Given the description of an element on the screen output the (x, y) to click on. 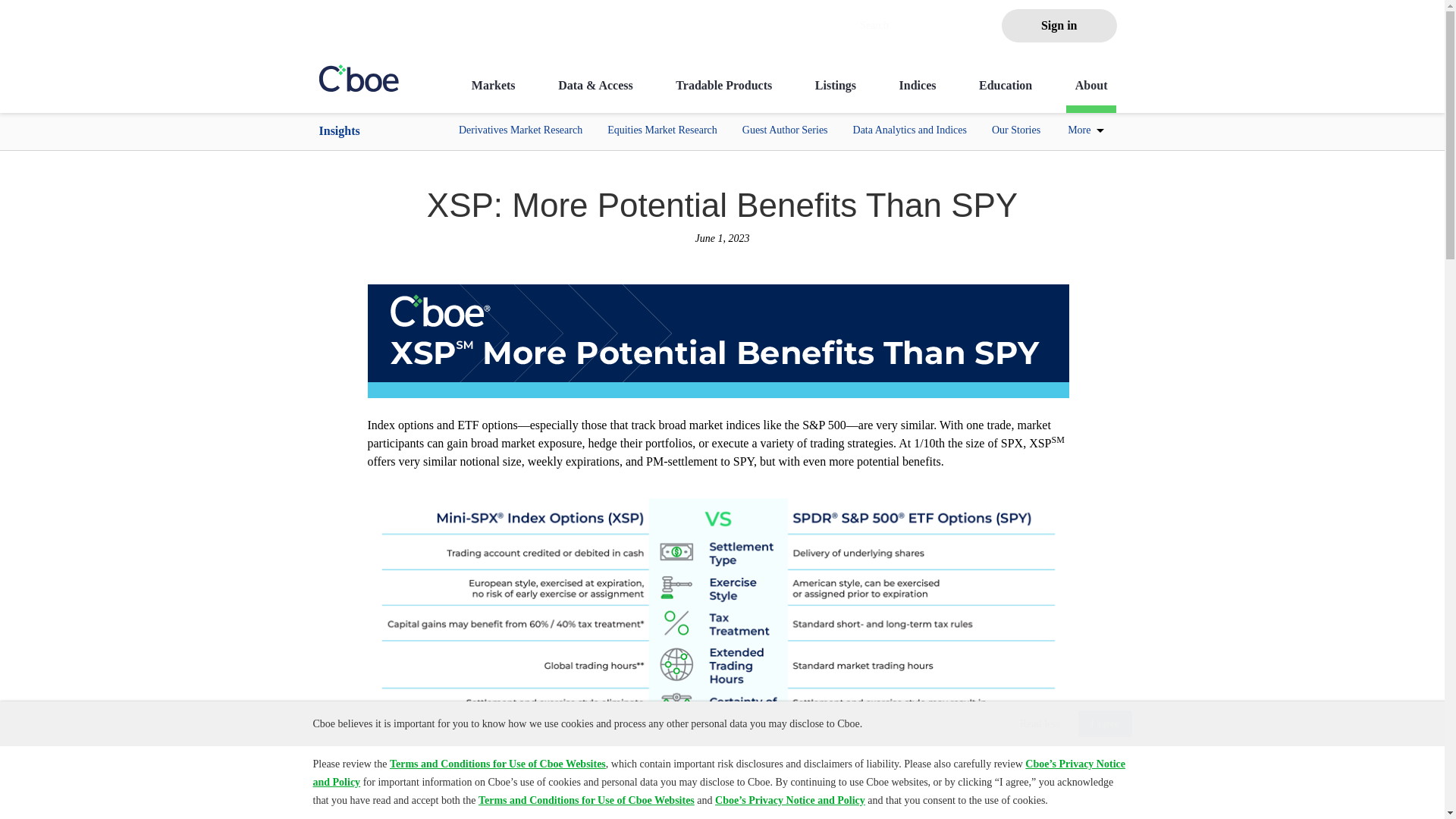
Cboe Global Markets (359, 76)
Search (907, 25)
Sign in (1058, 25)
Markets (493, 94)
Sign In (1058, 25)
Tradable Products (723, 94)
Search (911, 25)
